Given the description of an element on the screen output the (x, y) to click on. 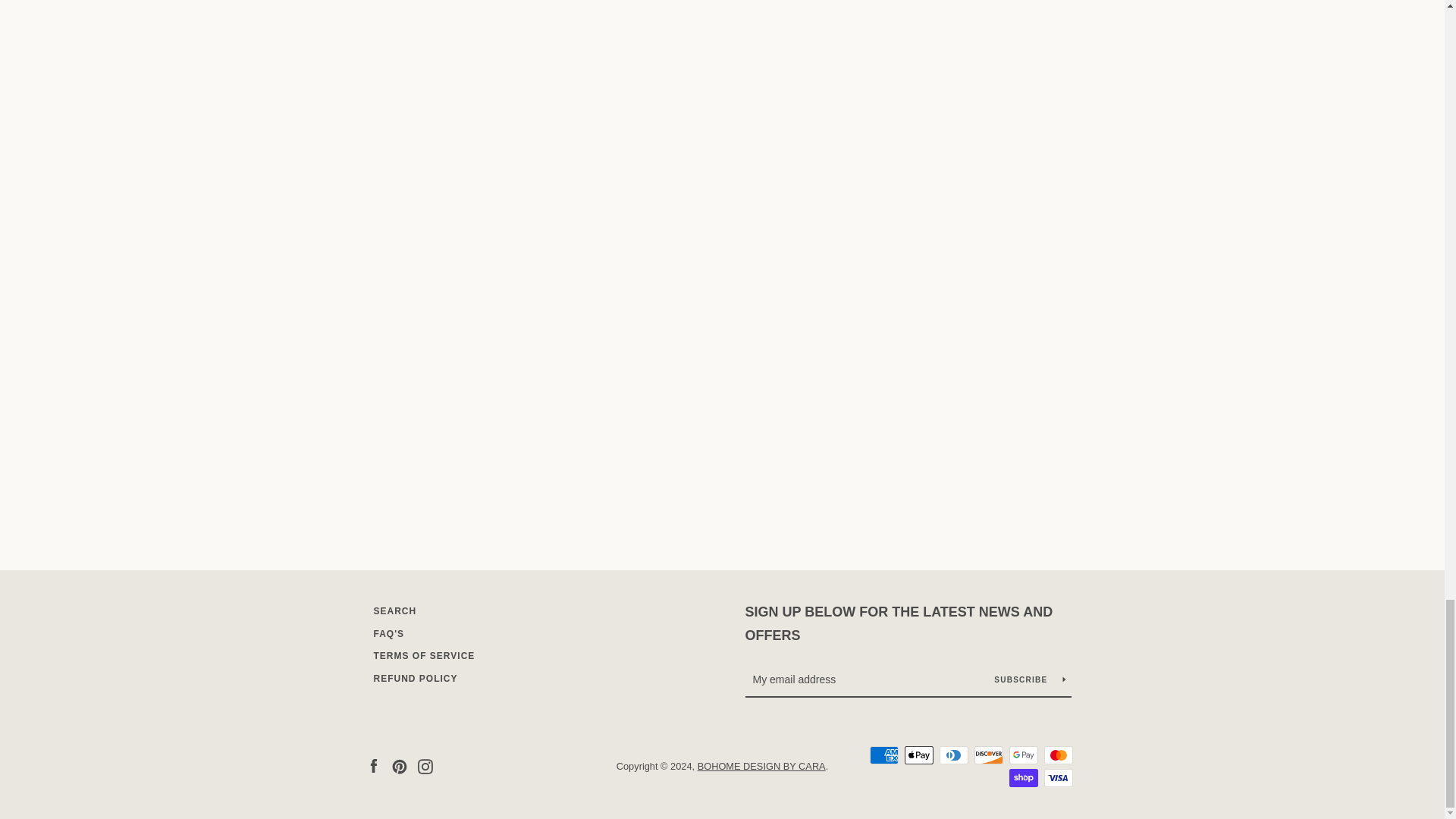
Shop Pay (1022, 778)
BOHOME DESIGN BY CARA on Instagram (424, 765)
Discover (988, 755)
Apple Pay (918, 755)
Mastercard (1057, 755)
BOHOME DESIGN BY CARA on Facebook (372, 765)
Diners Club (953, 755)
BOHOME DESIGN BY CARA on Pinterest (399, 765)
SEARCH (394, 611)
Google Pay (1022, 755)
